Given the description of an element on the screen output the (x, y) to click on. 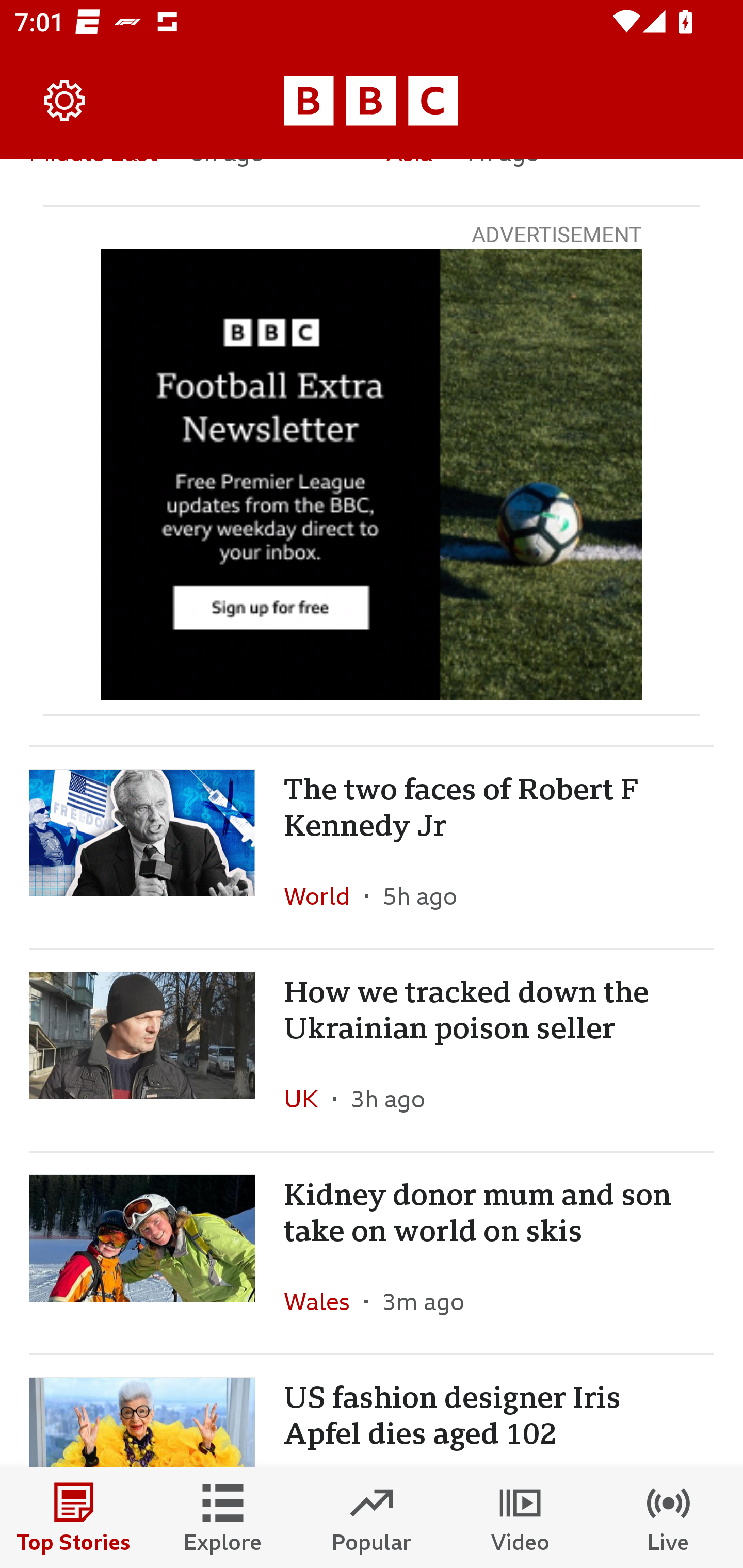
Settings (64, 100)
World In the section World (323, 895)
UK In the section UK (307, 1097)
Wales In the section Wales (323, 1301)
Explore (222, 1517)
Popular (371, 1517)
Video (519, 1517)
Live (668, 1517)
